Given the description of an element on the screen output the (x, y) to click on. 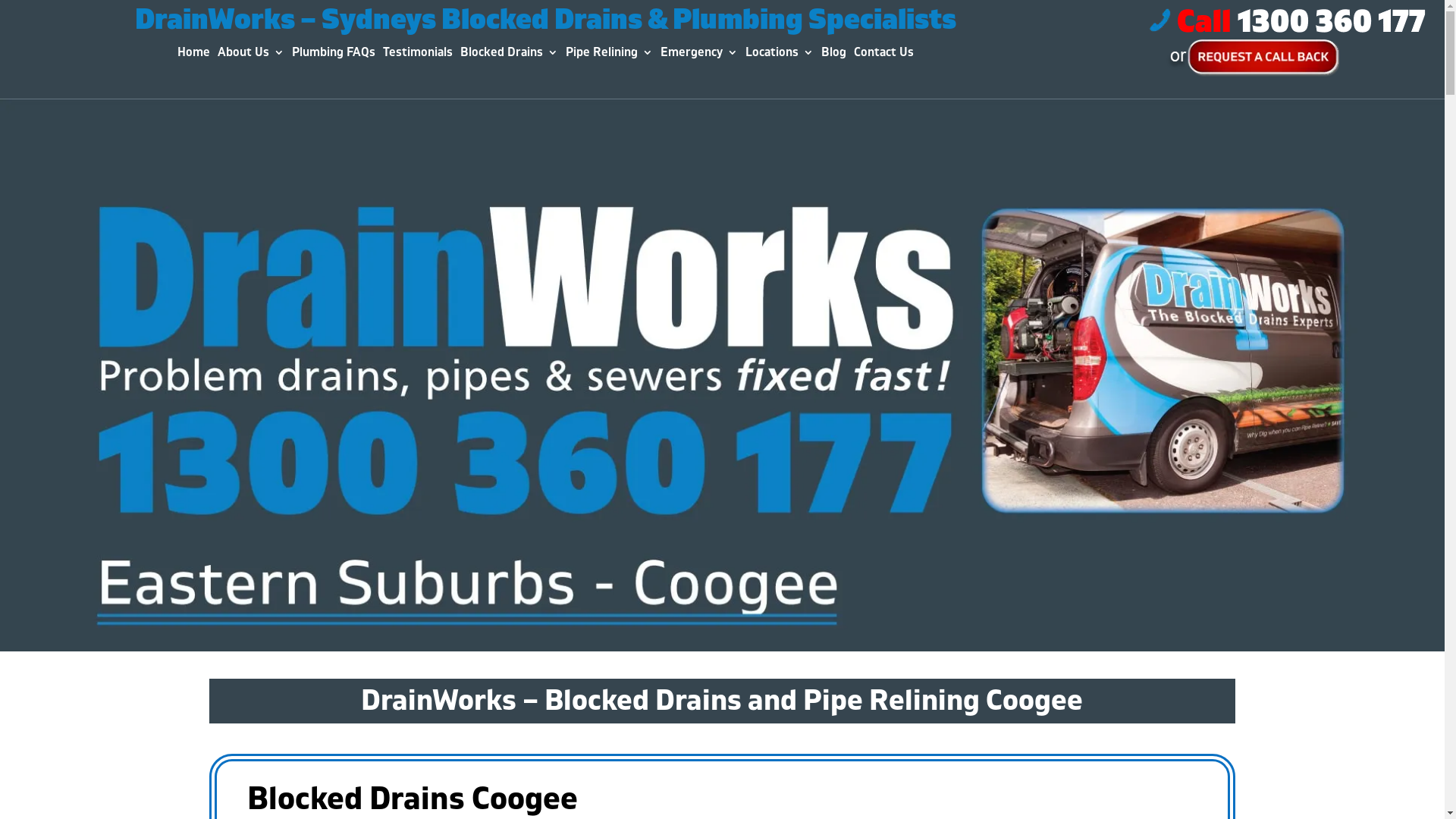
Request A Call Back From DrainWorks Element type: hover (1252, 57)
Home Element type: text (193, 55)
Blog Element type: text (833, 55)
Emergency Element type: text (698, 55)
Contact Us Element type: text (883, 55)
Testimonials Element type: text (417, 55)
About Us Element type: text (250, 55)
Blocked Drains Element type: text (509, 55)
Plumbing FAQs Element type: text (333, 55)
Locations Element type: text (779, 55)
Pipe Relining Element type: text (608, 55)
Call DrainWorks Now on 1300360177 Element type: hover (1287, 20)
